Given the description of an element on the screen output the (x, y) to click on. 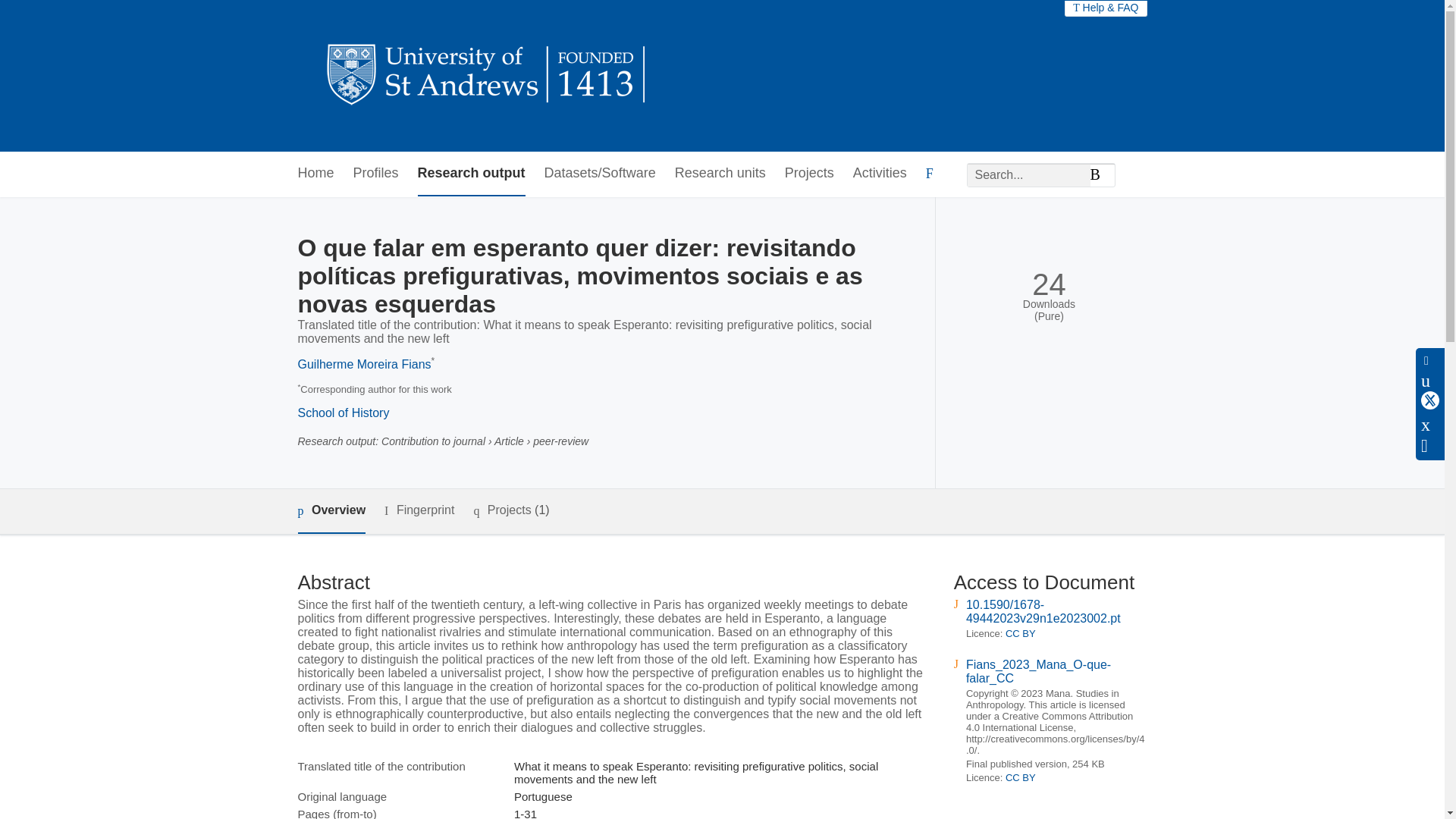
Research units (720, 173)
Guilherme Moreira Fians (363, 364)
Activities (880, 173)
Projects (809, 173)
CC BY (1020, 633)
Research output (471, 173)
Profiles (375, 173)
CC BY (1020, 777)
Fingerprint (419, 510)
School of History (342, 412)
Overview (331, 510)
University of St Andrews Research Portal Home (487, 75)
